Given the description of an element on the screen output the (x, y) to click on. 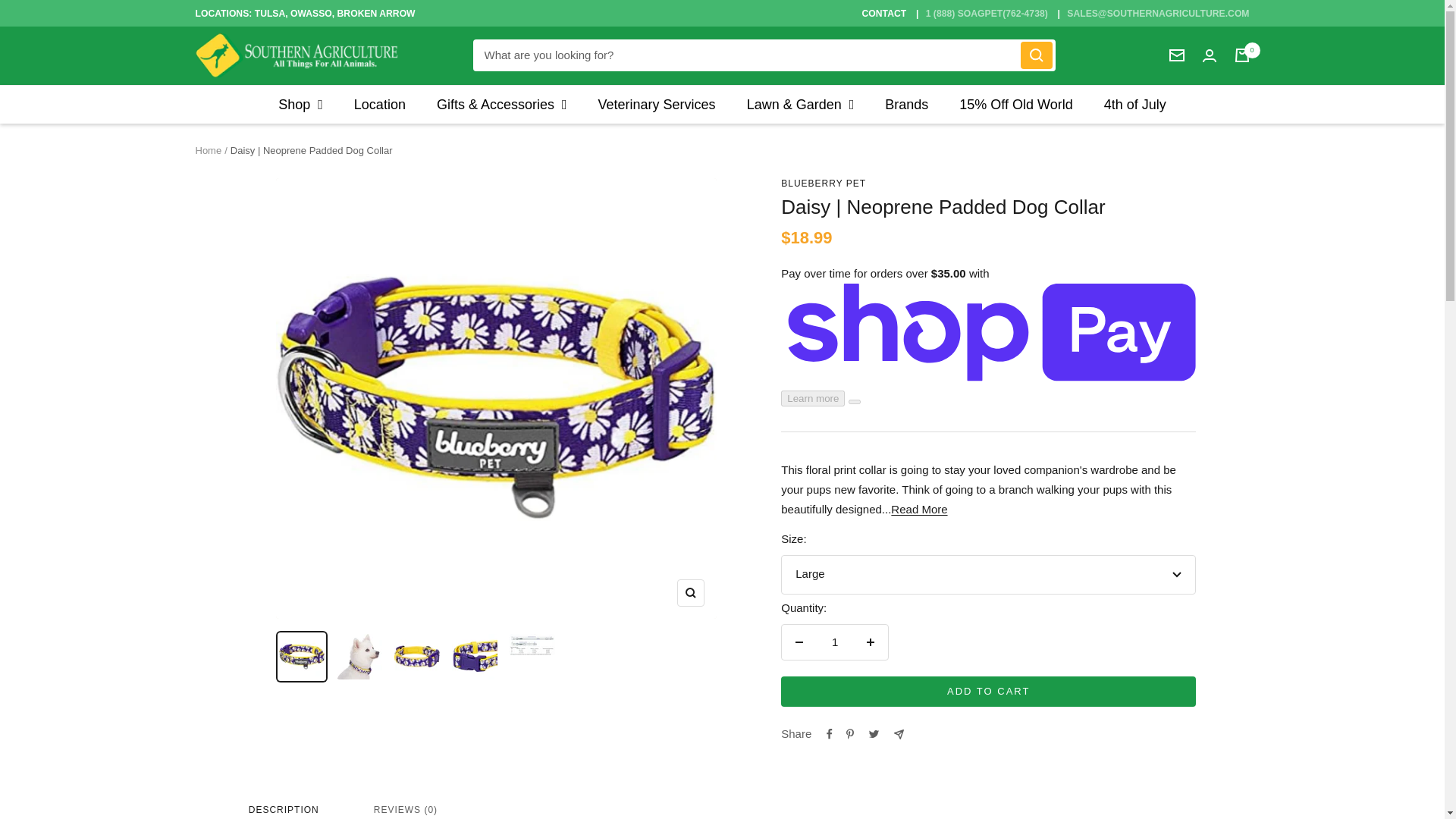
LOCATIONS: TULSA, OWASSO, BROKEN ARROW (304, 12)
Shop (300, 104)
Shop (300, 104)
Read More (919, 508)
Newsletter (1177, 55)
0 (1241, 55)
Southern Agriculture (297, 55)
1 (834, 642)
